Given the description of an element on the screen output the (x, y) to click on. 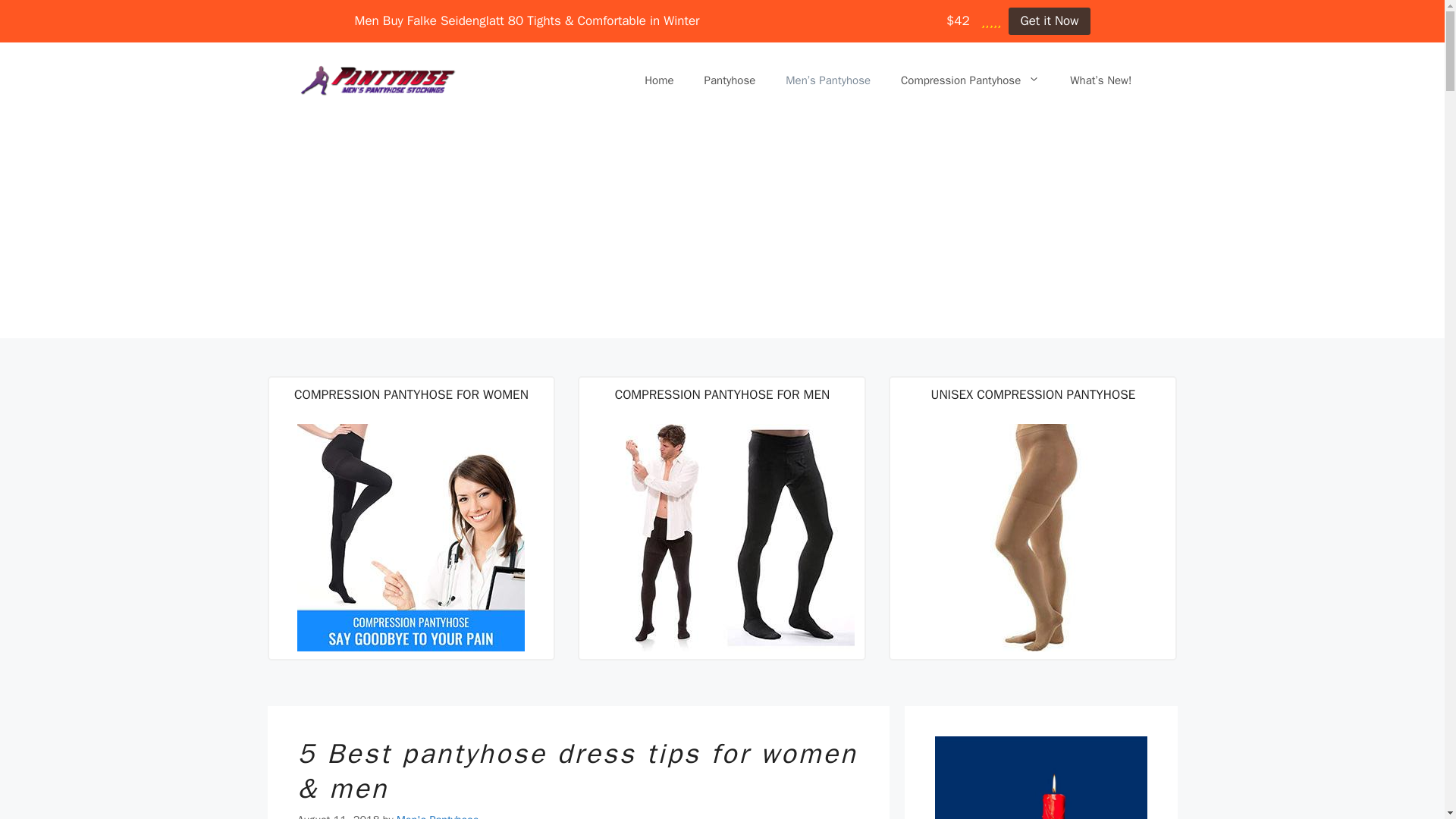
Compression Pantyhose (969, 80)
Get it Now (1049, 21)
Home (658, 80)
View all posts by Men's Pantyhose (437, 816)
Men's Pantyhose (437, 816)
Pantyhose (729, 80)
